Given the description of an element on the screen output the (x, y) to click on. 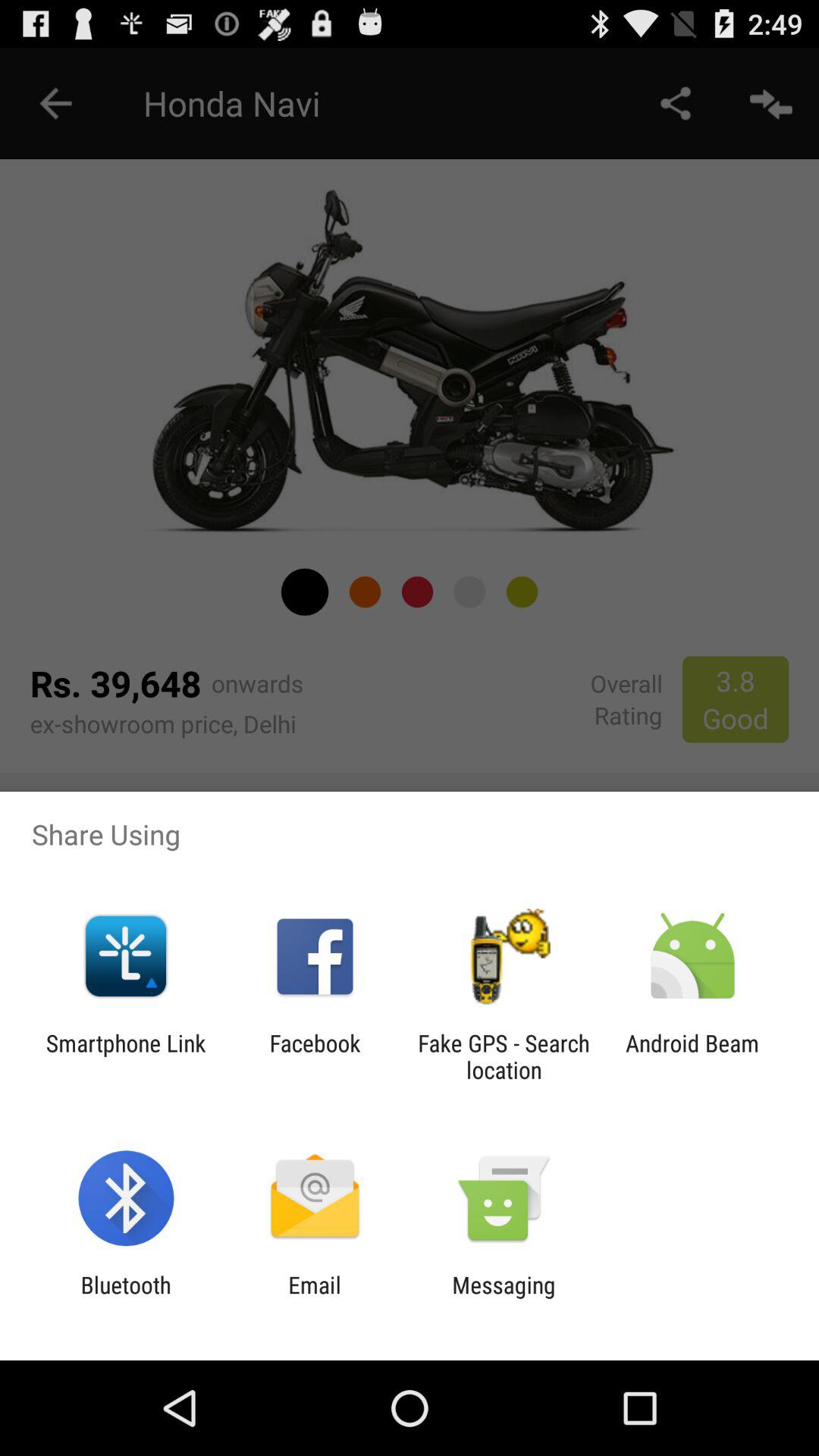
press the app to the left of email item (125, 1298)
